Given the description of an element on the screen output the (x, y) to click on. 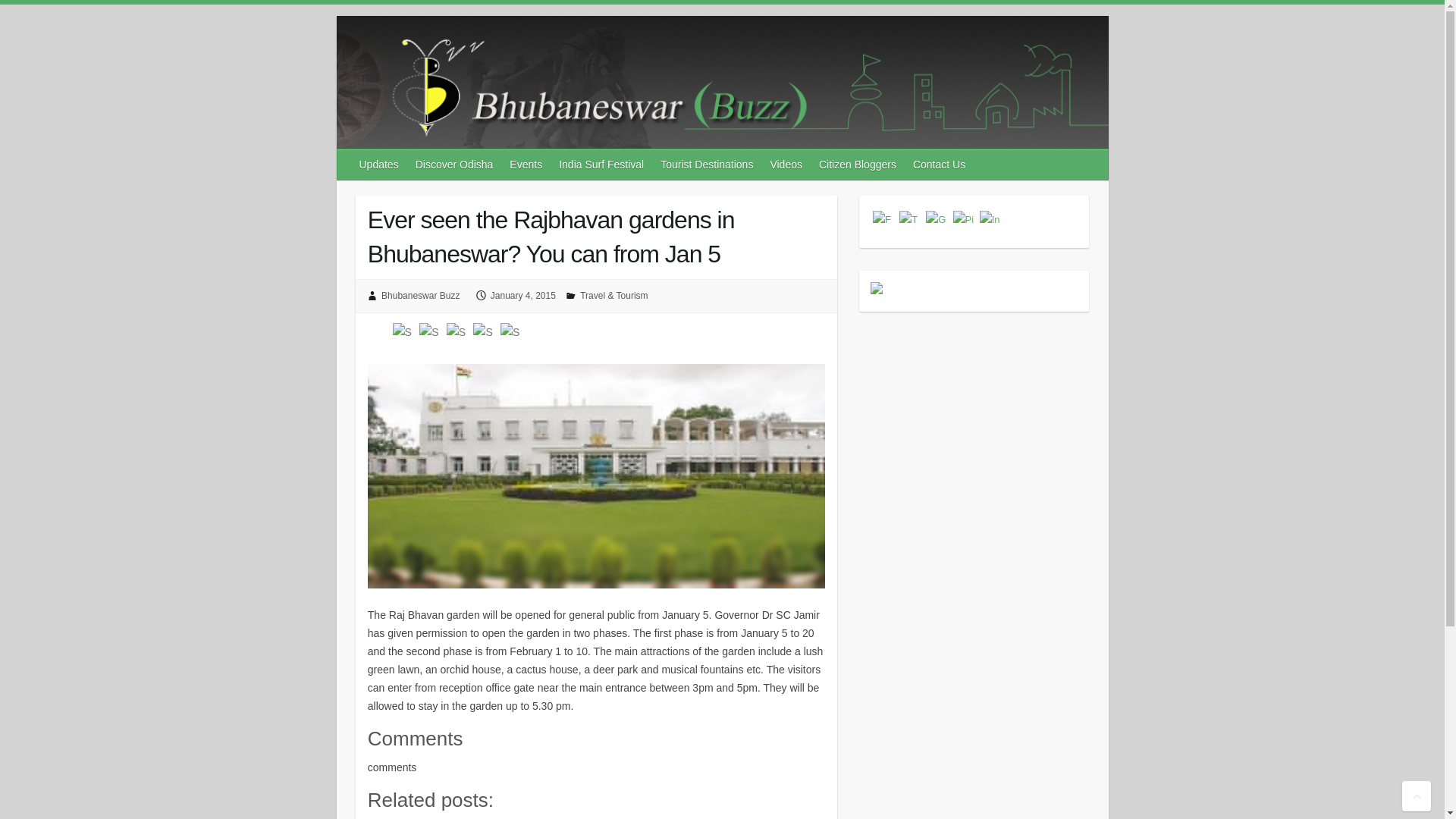
Instagram (991, 219)
Bhubaneswar Buzz (420, 295)
Videos (785, 164)
Contact Us (939, 164)
India Surf Festival (601, 164)
Share via Pinterest (511, 331)
Pinterest (963, 219)
Share via Twitter (457, 331)
Share via Google (430, 331)
Share via Email (484, 331)
